Given the description of an element on the screen output the (x, y) to click on. 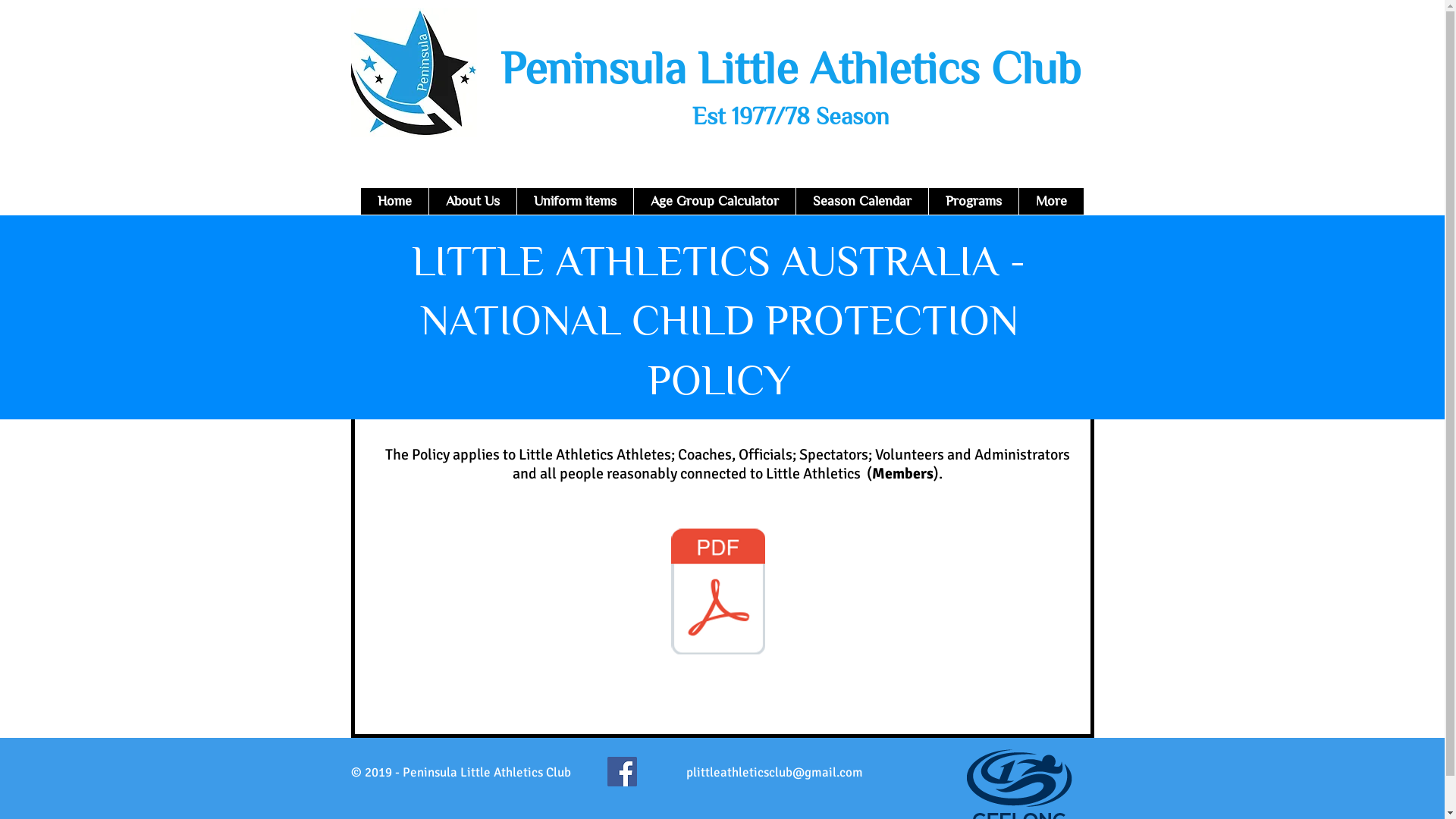
Age Group Calculator Element type: text (713, 201)
LAA National Child Protection Policy - December 2016.pdf Element type: hover (717, 593)
Programs Element type: text (973, 201)
Peninsula Little Athletics Club Element type: text (790, 68)
About Us Element type: text (471, 201)
Home Element type: text (394, 201)
Season Calendar Element type: text (860, 201)
Uniform items Element type: text (573, 201)
plittleathleticsclub@gmail.com Element type: text (773, 772)
